Given the description of an element on the screen output the (x, y) to click on. 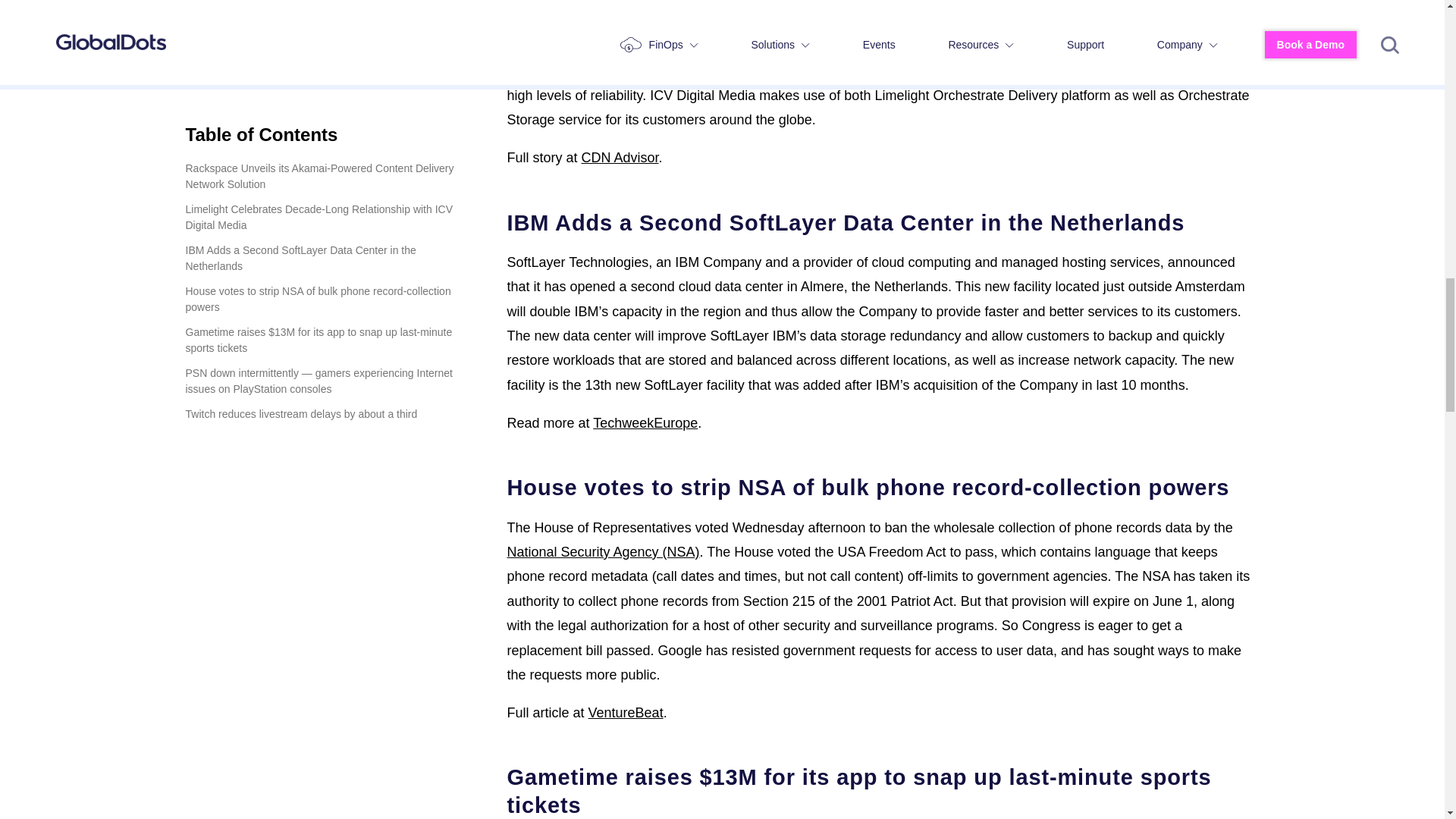
Limelight Networks (563, 2)
National Security Agency (602, 551)
